Given the description of an element on the screen output the (x, y) to click on. 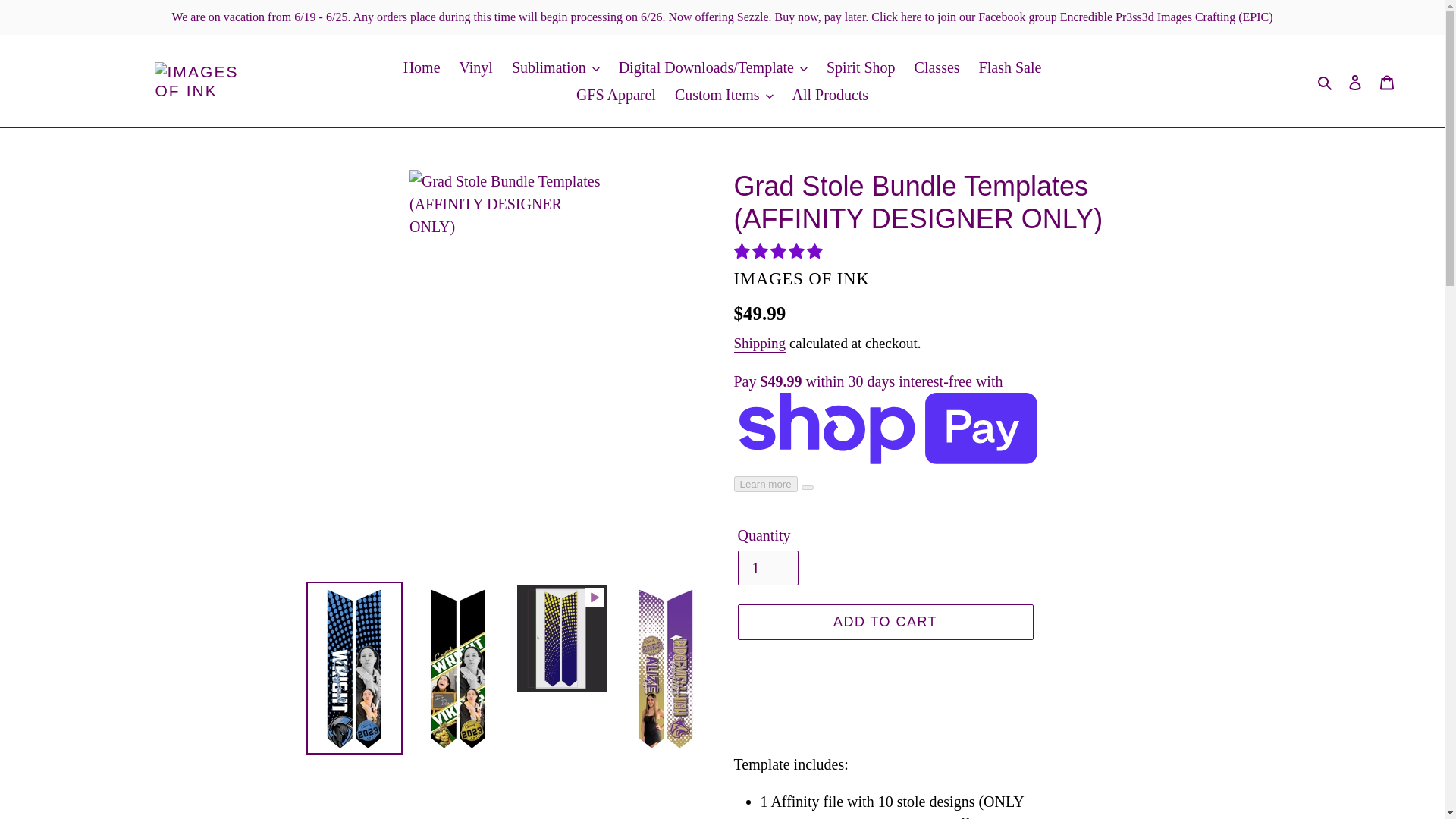
Classes (937, 67)
All Products (830, 94)
Home (422, 67)
Vinyl (475, 67)
Sublimation (555, 67)
Flash Sale (1010, 67)
GFS Apparel (616, 94)
Spirit Shop (860, 67)
Search (1326, 80)
1 (766, 567)
